Given the description of an element on the screen output the (x, y) to click on. 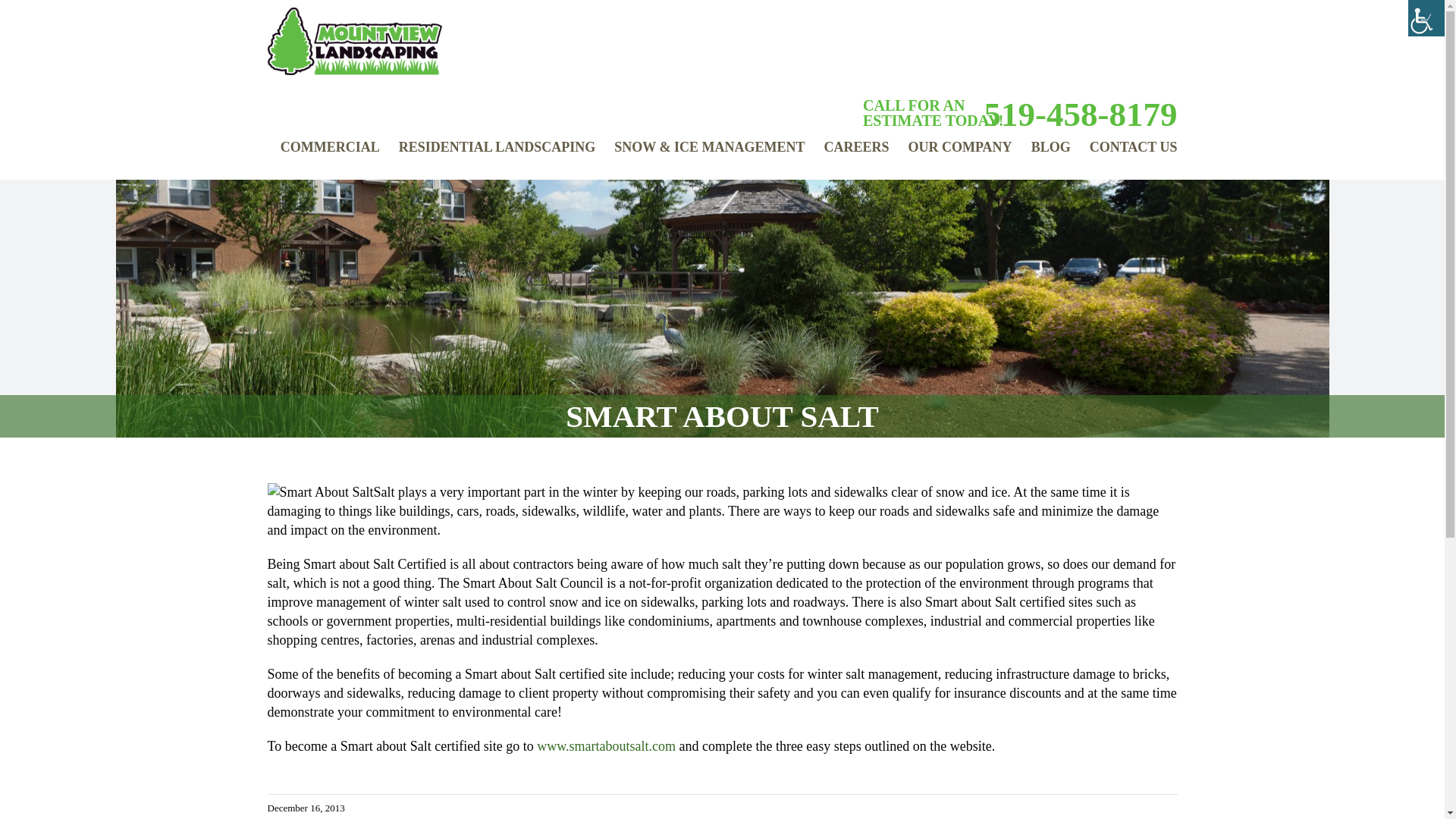
CAREERS (856, 146)
COMMERCIAL (330, 155)
Smart About Salt (606, 745)
519-458-8179 (1073, 114)
OUR COMPANY (959, 155)
BLOG (1050, 146)
www.smartaboutsalt.com (606, 745)
RESIDENTIAL LANDSCAPING (496, 155)
CONTACT US (1133, 155)
